Given the description of an element on the screen output the (x, y) to click on. 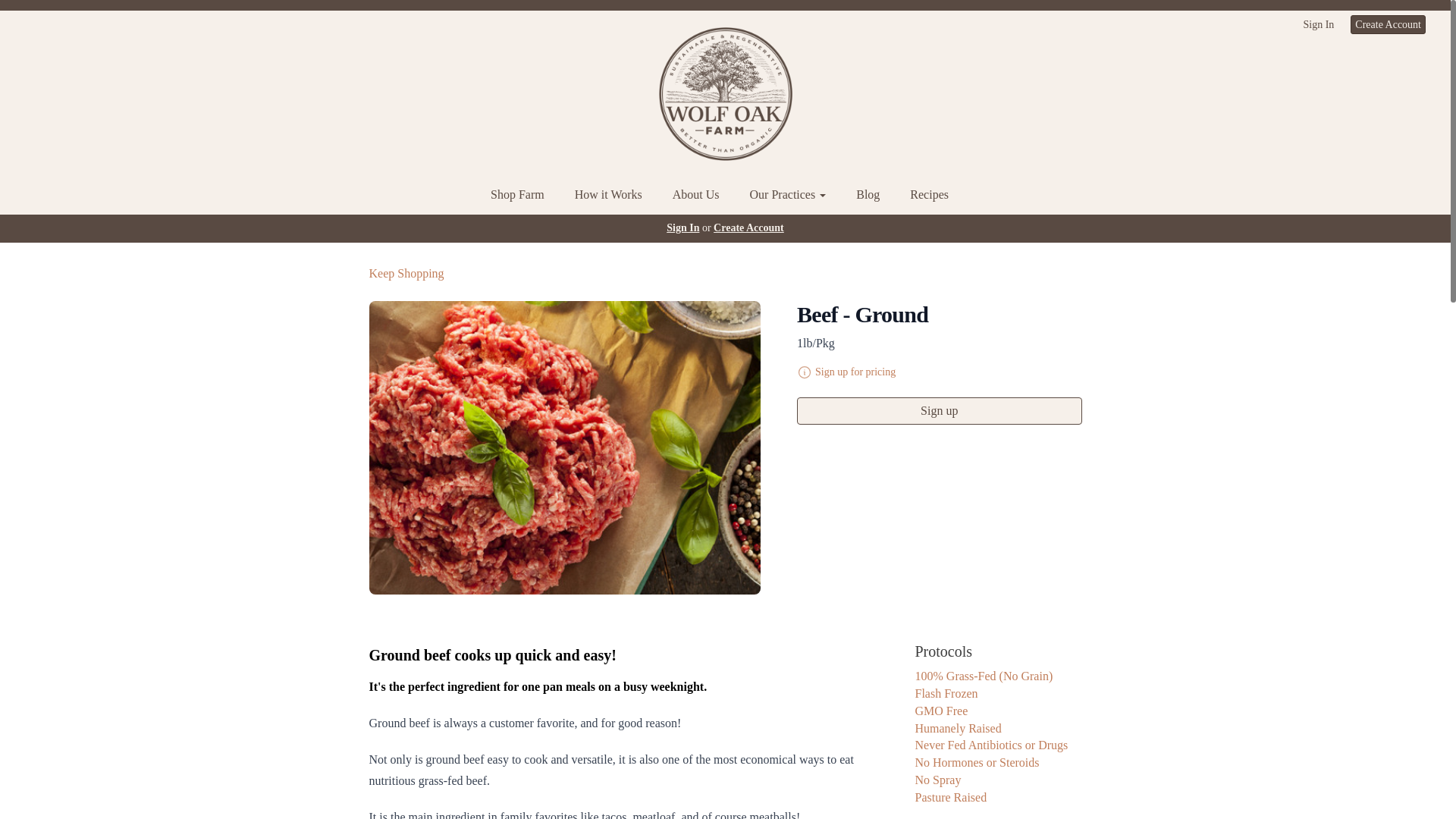
Blog (868, 195)
Keep Shopping (406, 273)
Create Account (748, 227)
Sign up for pricing (855, 372)
Sign up (938, 411)
Our Practices (788, 195)
Recipes (929, 195)
GMO Free (941, 710)
Pasture Raised (950, 797)
Shop Farm (517, 195)
